Given the description of an element on the screen output the (x, y) to click on. 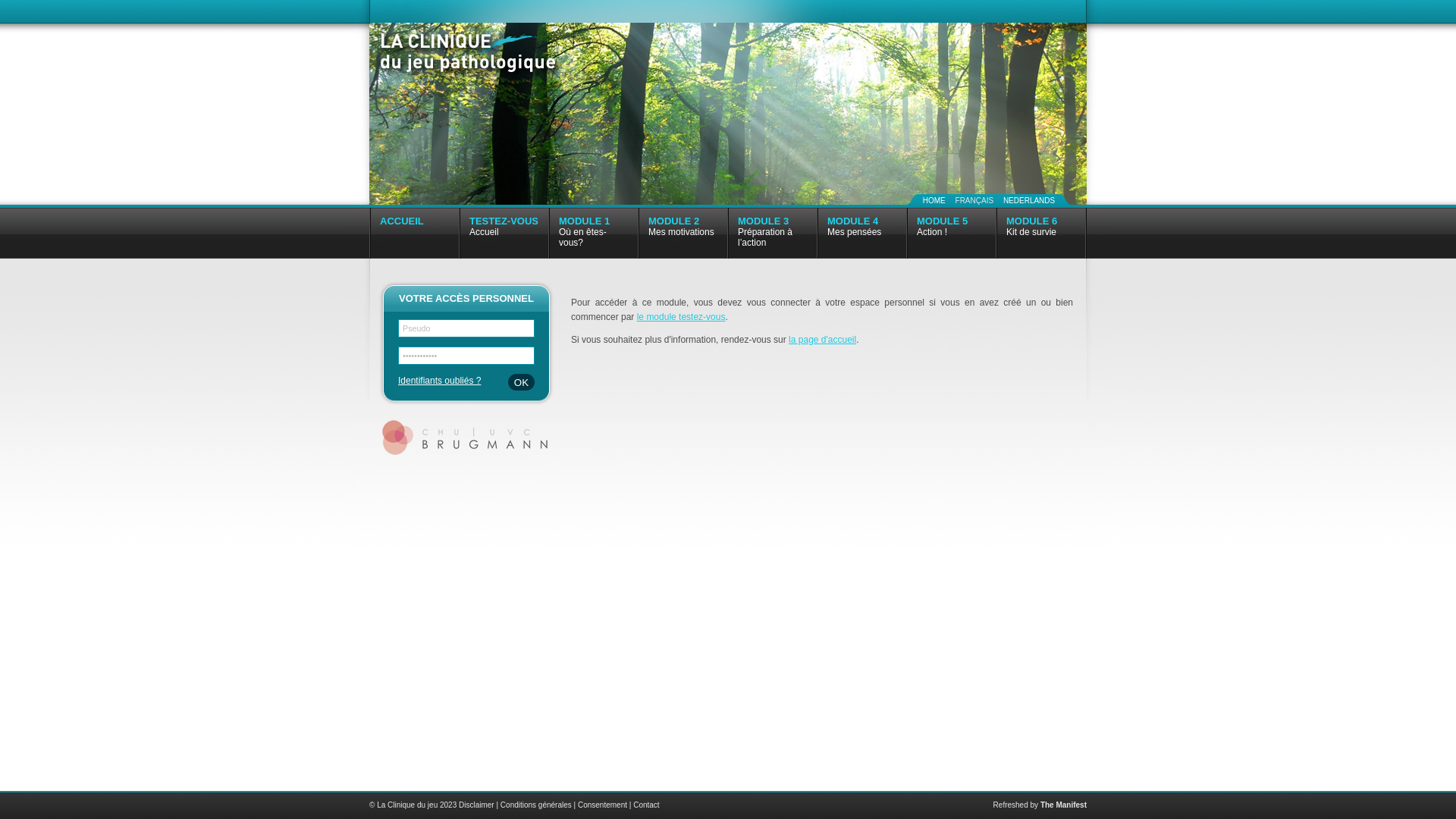
NEDERLANDS Element type: text (1028, 200)
ok Element type: text (521, 381)
ACCUEIL Element type: text (414, 232)
CHU | UVC Brugmann Element type: text (466, 437)
HOME Element type: text (933, 200)
Disclaimer Element type: text (476, 804)
MODULE 2
Mes motivations Element type: text (683, 232)
MODULE 5
Action ! Element type: text (951, 232)
Consentement Element type: text (602, 804)
MODULE 6
Kit de survie Element type: text (1041, 232)
la page d'accueil Element type: text (822, 339)
TESTEZ-VOUS
Accueil Element type: text (504, 232)
Contact Element type: text (645, 804)
le module testez-vous Element type: text (681, 316)
